Given the description of an element on the screen output the (x, y) to click on. 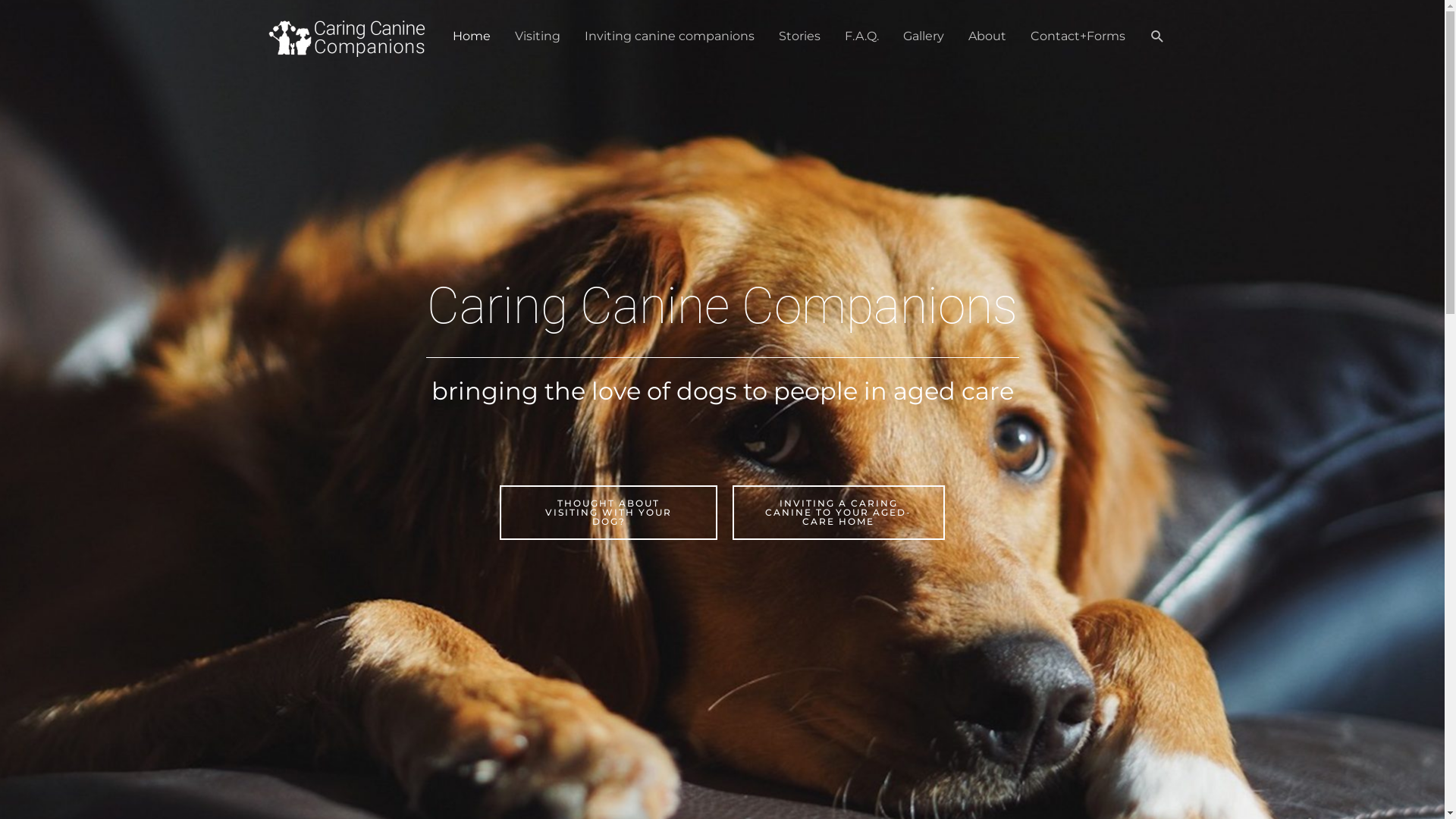
F.A.Q. Element type: text (861, 36)
Search Element type: text (1157, 36)
Gallery Element type: text (922, 36)
Inviting canine companions Element type: text (668, 36)
Contact+Forms Element type: text (1076, 36)
Home Element type: text (470, 36)
INVITING A CARING CANINE TO YOUR AGED-CARE HOME Element type: text (838, 512)
Stories Element type: text (798, 36)
About Element type: text (986, 36)
THOUGHT ABOUT VISITING WITH YOUR DOG? Element type: text (608, 512)
Visiting Element type: text (536, 36)
